Given the description of an element on the screen output the (x, y) to click on. 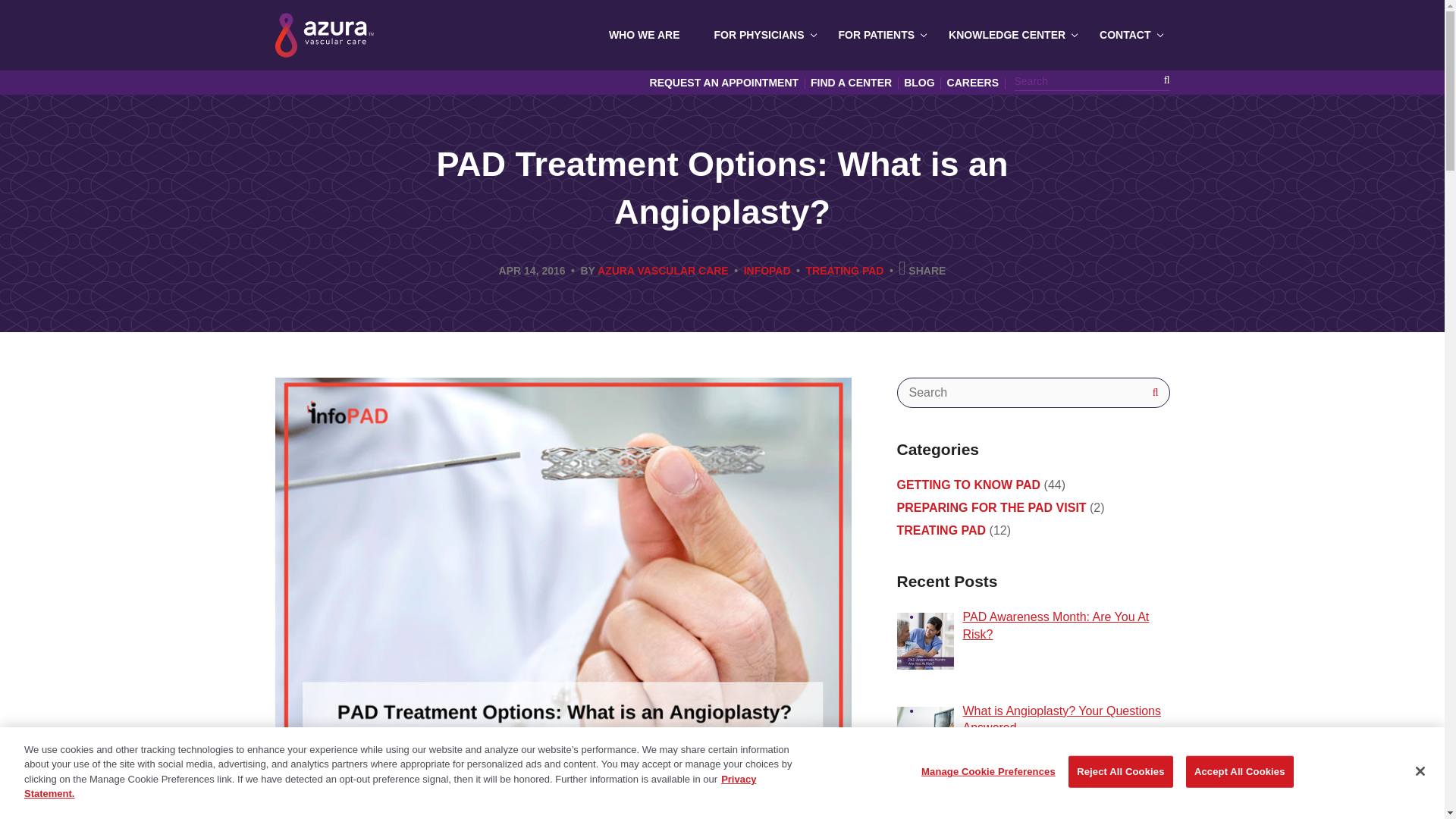
FOR PATIENTS (879, 34)
WHO WE ARE (646, 34)
FOR PHYSICIANS (760, 34)
TM (323, 34)
TM (323, 35)
